Given the description of an element on the screen output the (x, y) to click on. 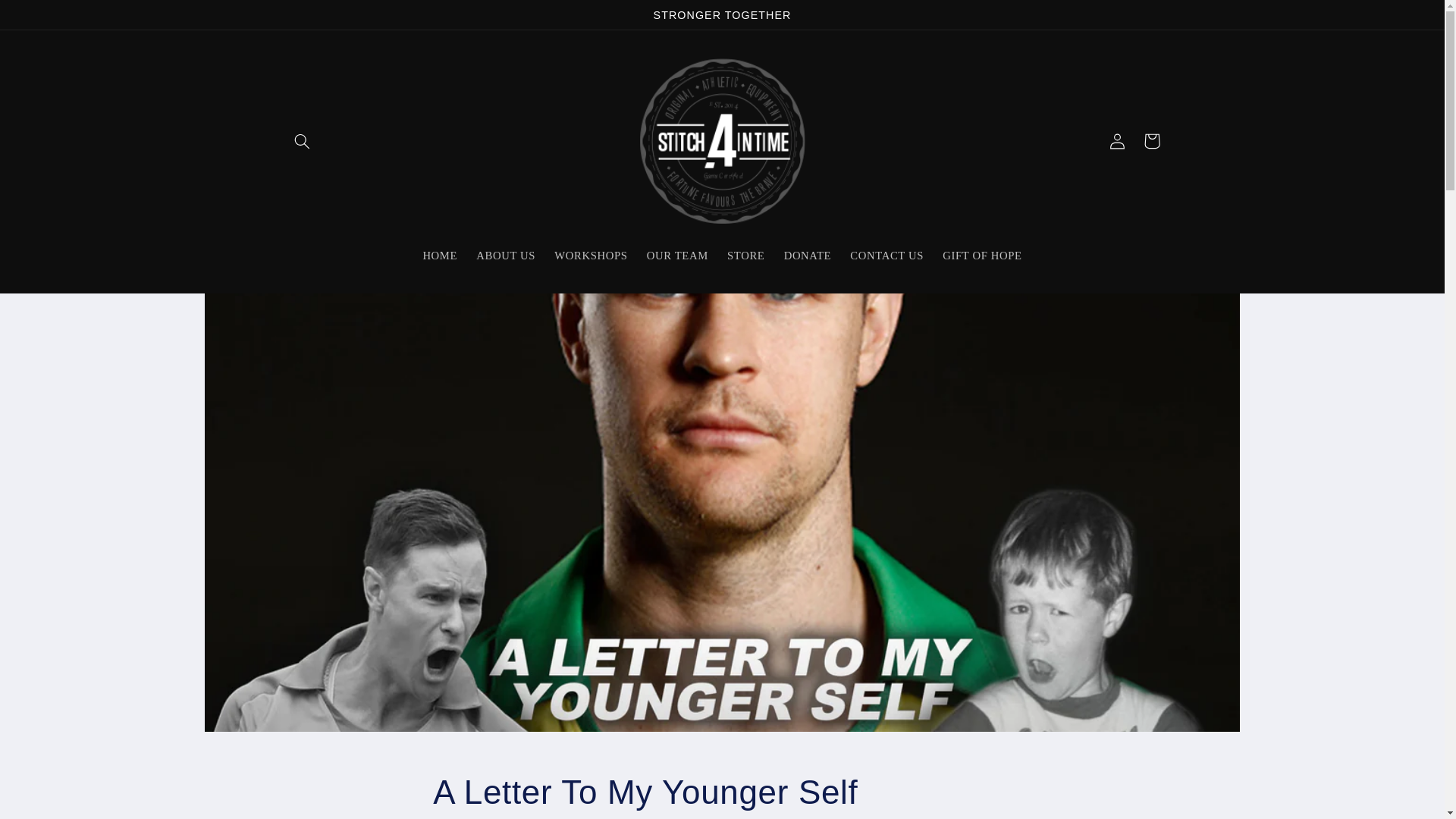
Cart Element type: text (1151, 140)
Log in Element type: text (1116, 140)
WORKSHOPS Element type: text (591, 255)
OUR TEAM Element type: text (677, 255)
ABOUT US Element type: text (506, 255)
GIFT OF HOPE Element type: text (982, 255)
STORE Element type: text (745, 255)
DONATE Element type: text (807, 255)
CONTACT US Element type: text (886, 255)
HOME Element type: text (440, 255)
